Given the description of an element on the screen output the (x, y) to click on. 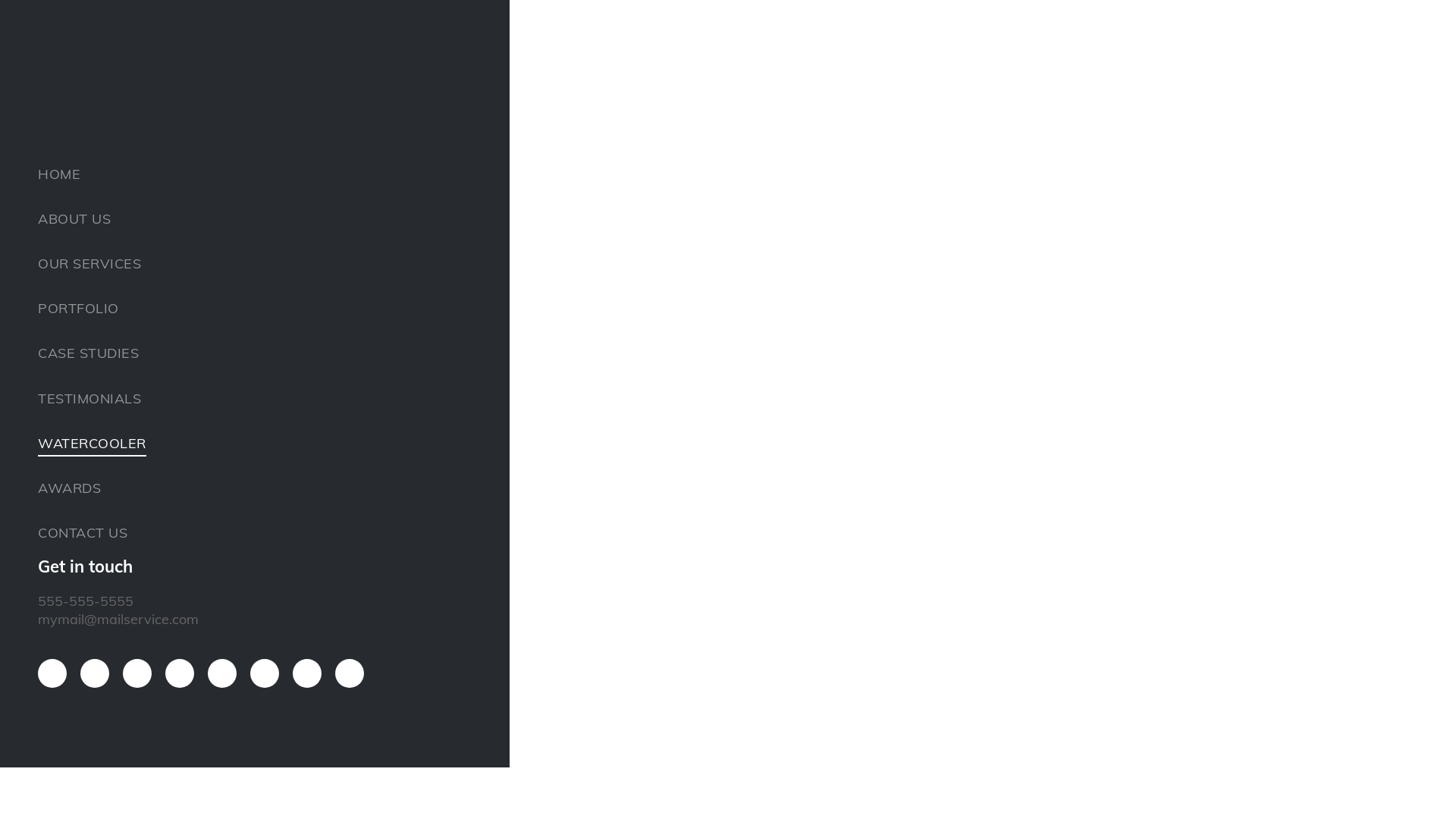
OUR SERVICES Element type: text (292, 263)
TESTIMONIALS Element type: text (292, 398)
PORTFOLIO Element type: text (292, 308)
CONTACT US Element type: text (292, 533)
ABOUT US Element type: text (292, 218)
CASE STUDIES Element type: text (292, 353)
AWARDS Element type: text (292, 487)
WATERCOOLER Element type: text (292, 442)
HOME Element type: text (292, 173)
